Given the description of an element on the screen output the (x, y) to click on. 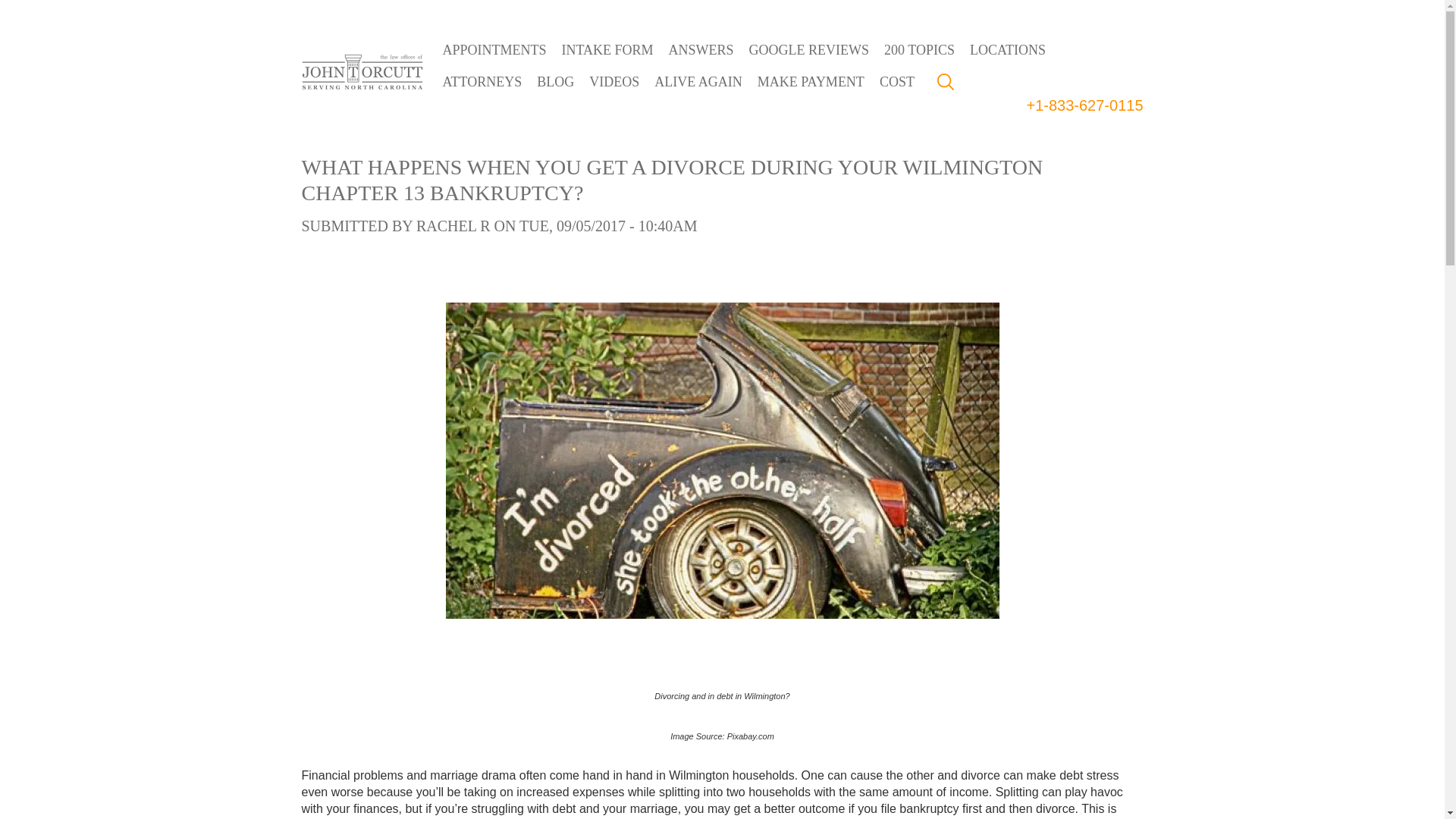
200 TOPICS (919, 50)
VIDEOS (613, 81)
APPOINTMENTS (494, 50)
ANSWERS (701, 50)
MAKE PAYMENT (810, 81)
BLOG (554, 81)
INTAKE FORM (607, 50)
LOCATIONS (1007, 50)
ALIVE AGAIN (697, 81)
ATTORNEYS (482, 81)
